Given the description of an element on the screen output the (x, y) to click on. 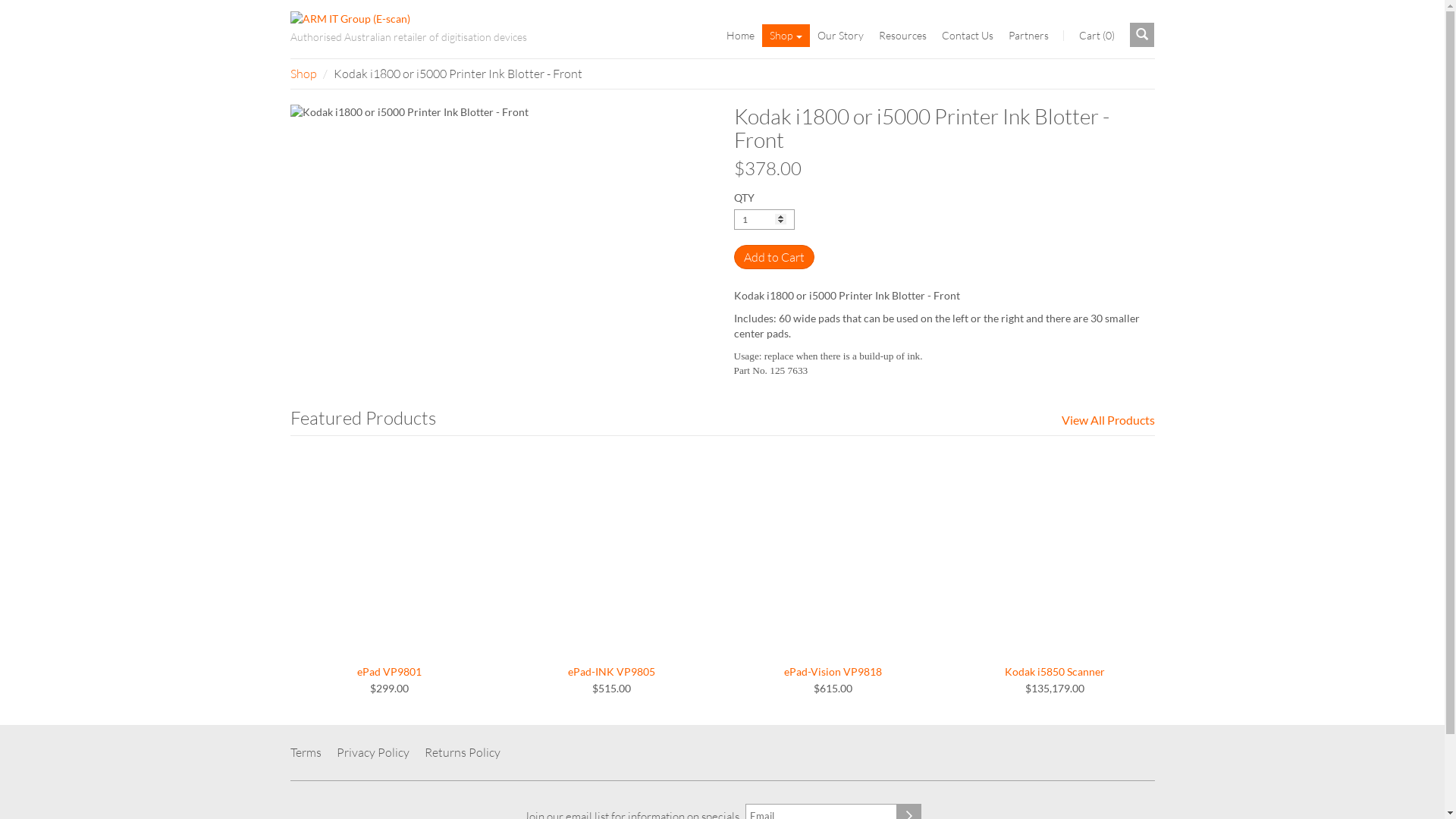
Add to Cart Element type: text (774, 256)
Shop Element type: text (302, 73)
Home Element type: text (740, 35)
ePad VP9801 Element type: text (389, 567)
Shop Element type: text (785, 35)
Returns Policy Element type: text (462, 752)
Cart (0) Element type: text (1096, 35)
Our Story Element type: text (840, 35)
Resources Element type: text (902, 35)
ePad-INK VP9805 Element type: text (611, 567)
Privacy Policy Element type: text (373, 752)
Contact Us Element type: text (967, 35)
Partners Element type: text (1028, 35)
ePad-Vision VP9818 Element type: text (833, 567)
View All Products Element type: text (1107, 419)
Kodak i5850 Scanner Element type: text (1054, 567)
Terms Element type: text (308, 752)
